Given the description of an element on the screen output the (x, y) to click on. 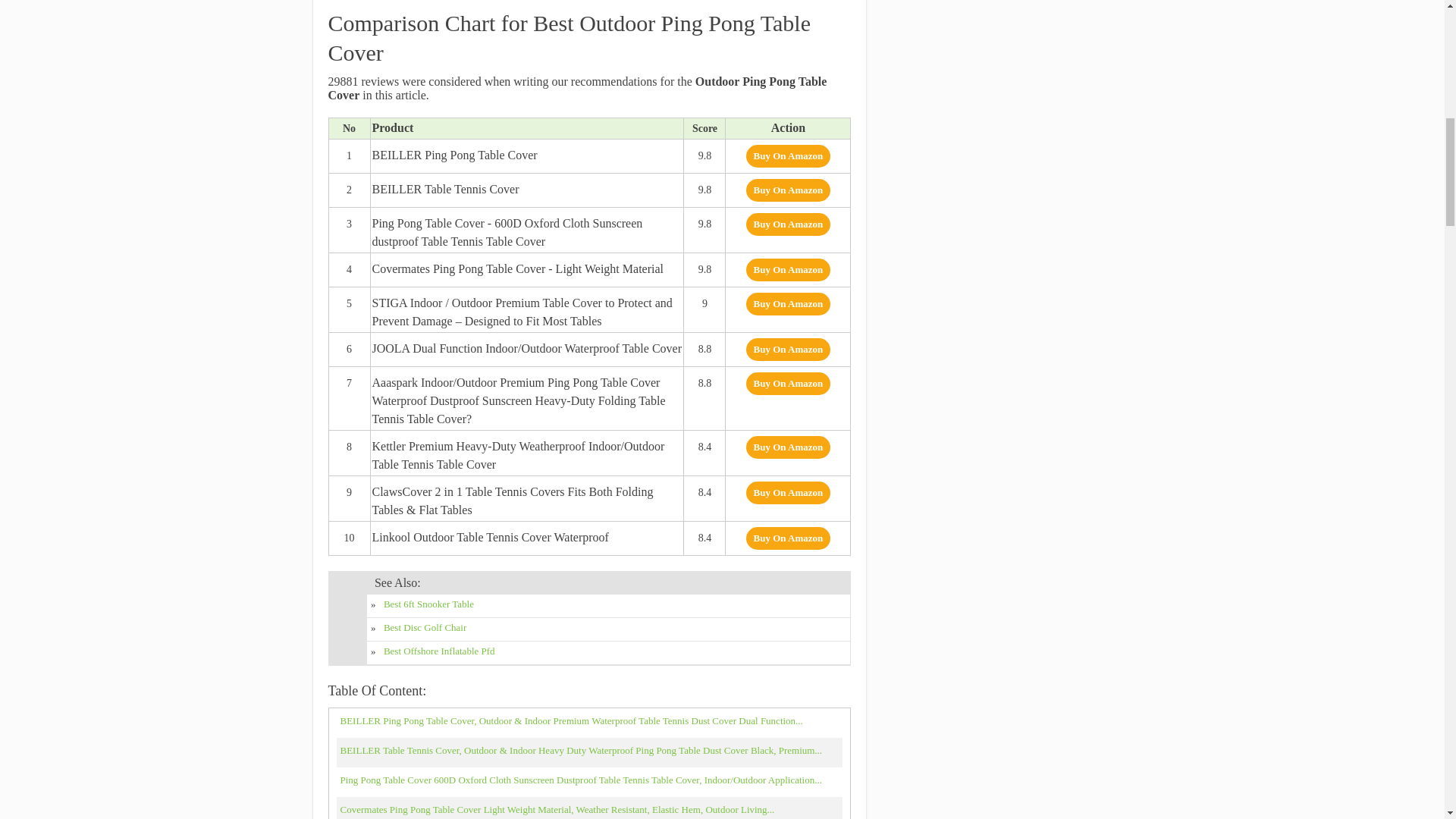
Buy On Amazon (788, 223)
Buy On Amazon (788, 155)
Buy On Amazon (788, 190)
